Given the description of an element on the screen output the (x, y) to click on. 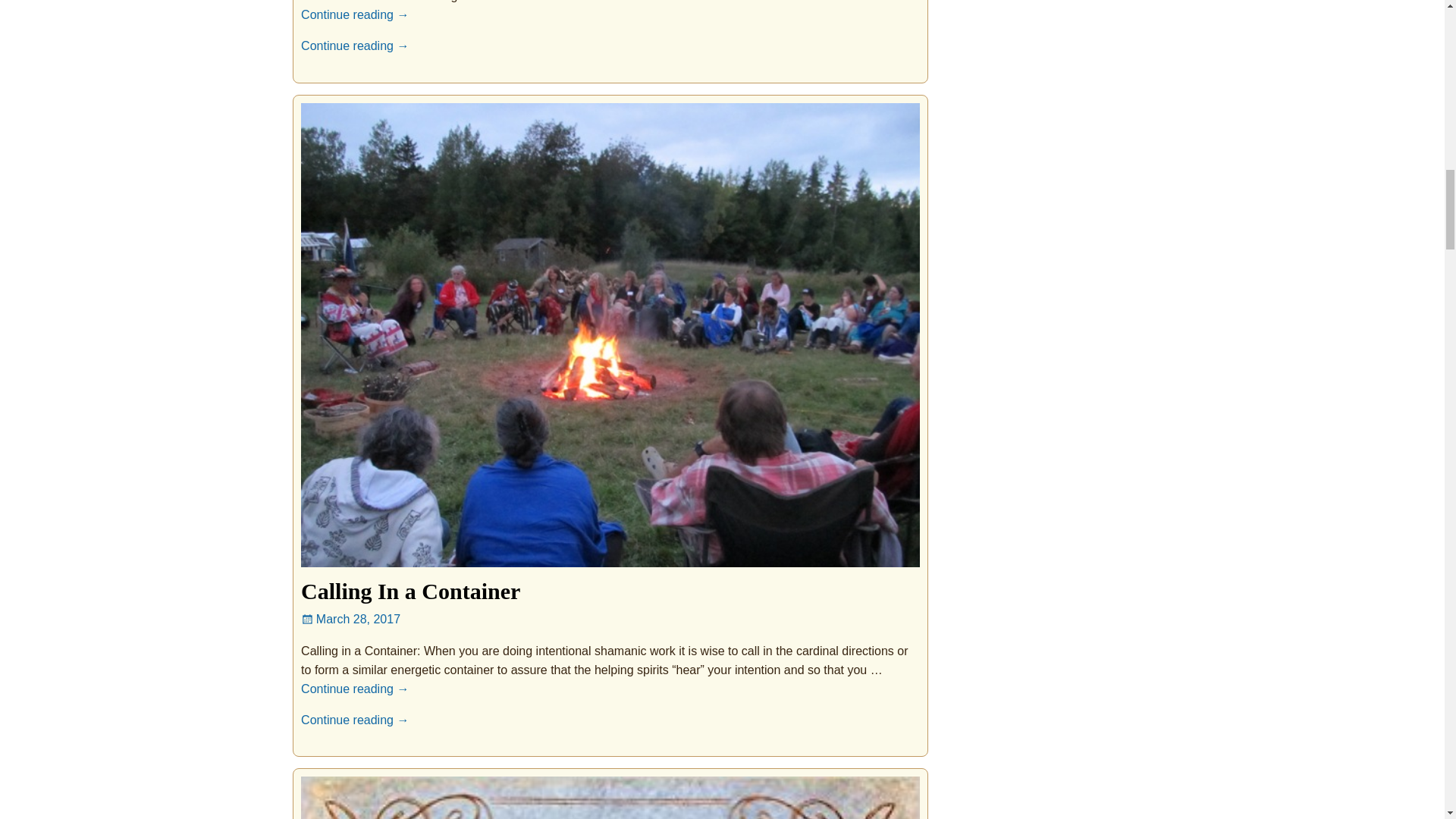
Permalink to Calling In a Container (410, 590)
1:07 pm (350, 618)
